Given the description of an element on the screen output the (x, y) to click on. 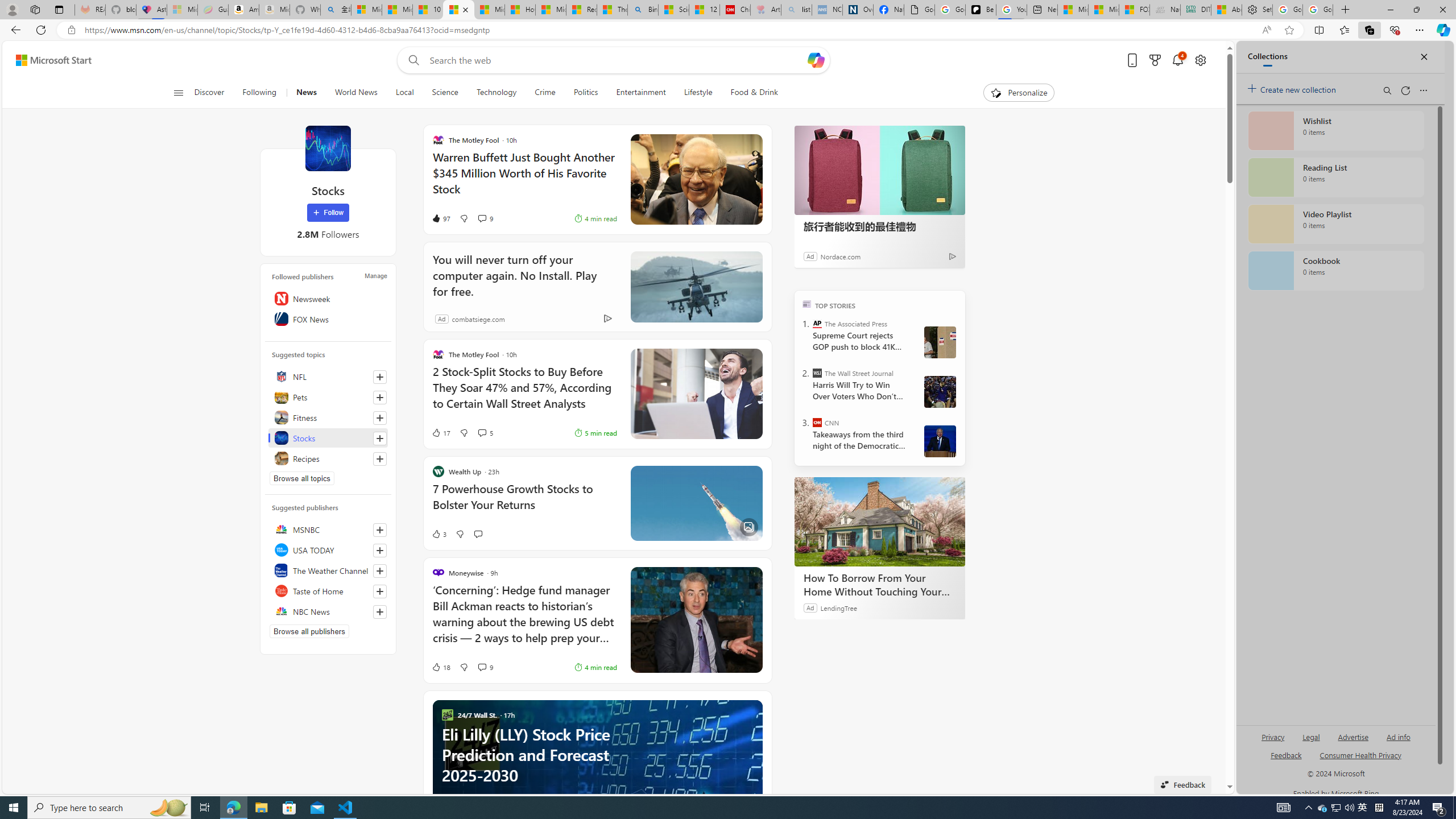
Follow this source (379, 611)
Local (404, 92)
Microsoft rewards (1154, 60)
Arthritis: Ask Health Professionals - Sleeping (765, 9)
Crime (545, 92)
Follow this topic (379, 458)
AutomationID: genId96 (1285, 759)
